Given the description of an element on the screen output the (x, y) to click on. 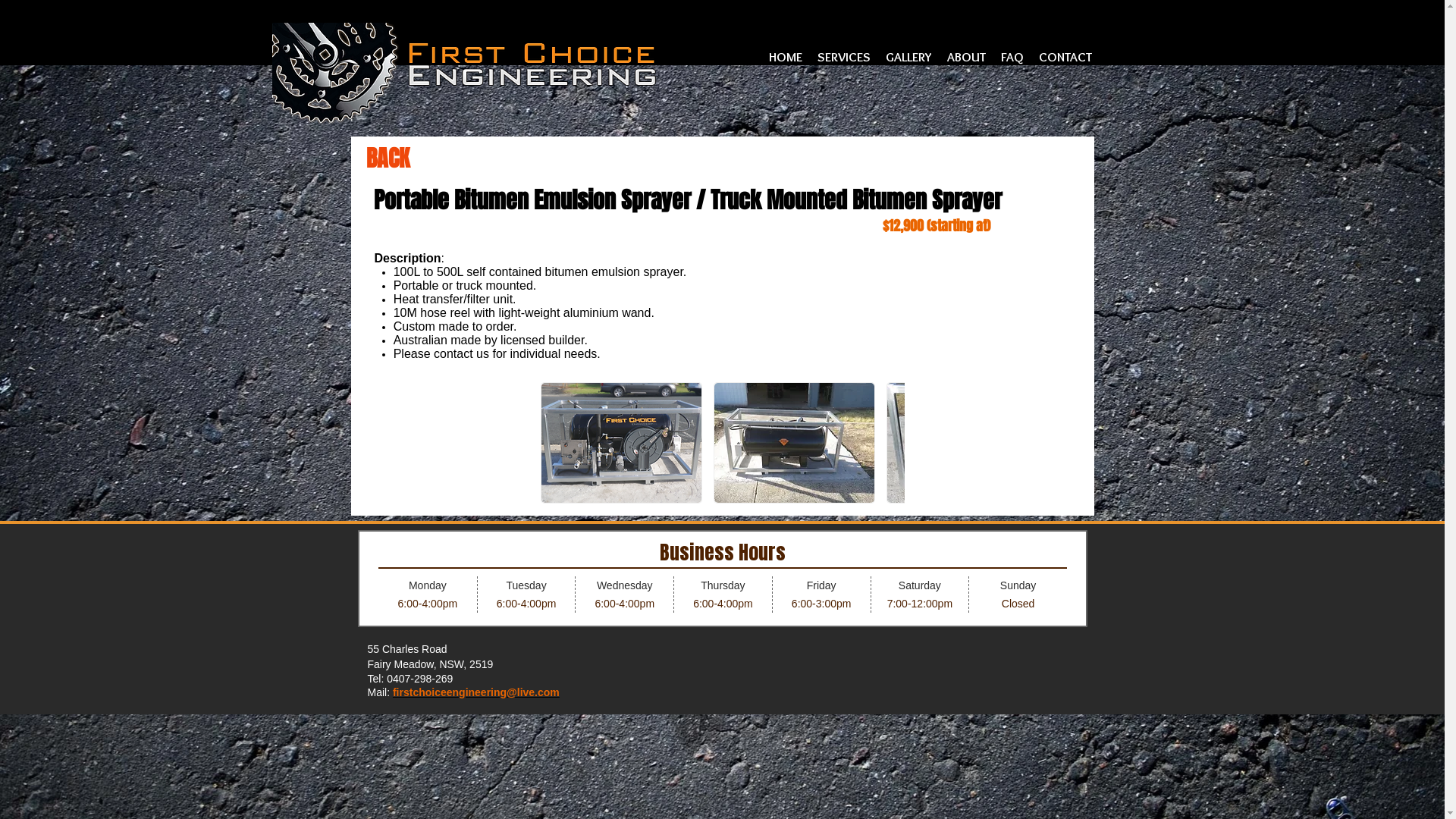
GALLERY Element type: text (908, 56)
SERVICES Element type: text (843, 56)
FAQ Element type: text (1012, 56)
CONTACT Element type: text (1065, 56)
Open for Business Element type: hover (722, 578)
BACK Element type: text (386, 158)
HOME Element type: text (785, 56)
firstchoiceengineering@live.com Element type: text (475, 692)
ABOUT Element type: text (965, 56)
